Given the description of an element on the screen output the (x, y) to click on. 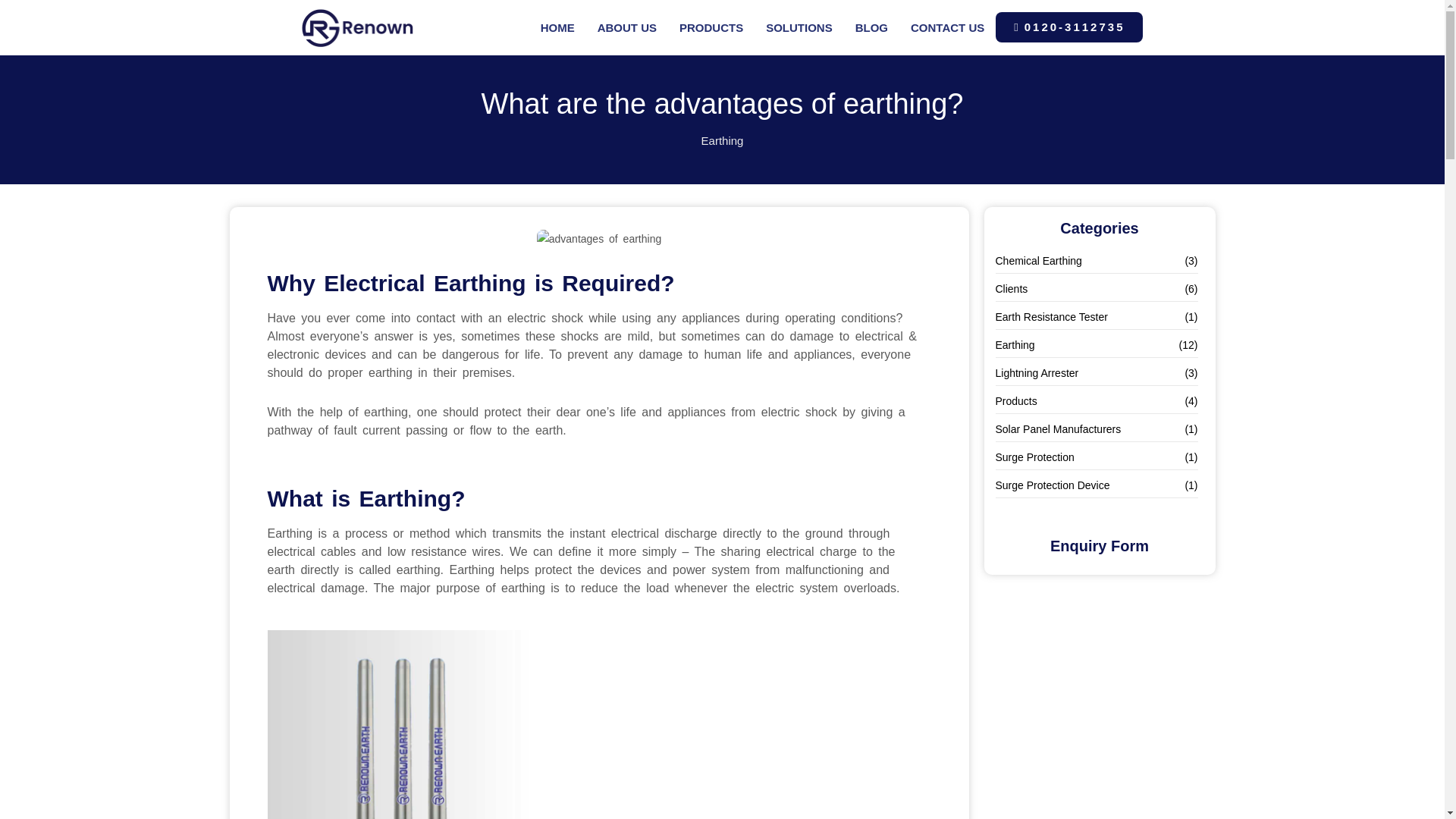
BLOG (871, 27)
SOLUTIONS (799, 27)
0120-3112735 (1068, 27)
What are the advantages of earthing (599, 239)
CONTACT US (947, 27)
PRODUCTS (711, 27)
HOME (557, 27)
ABOUT US (627, 27)
